Given the description of an element on the screen output the (x, y) to click on. 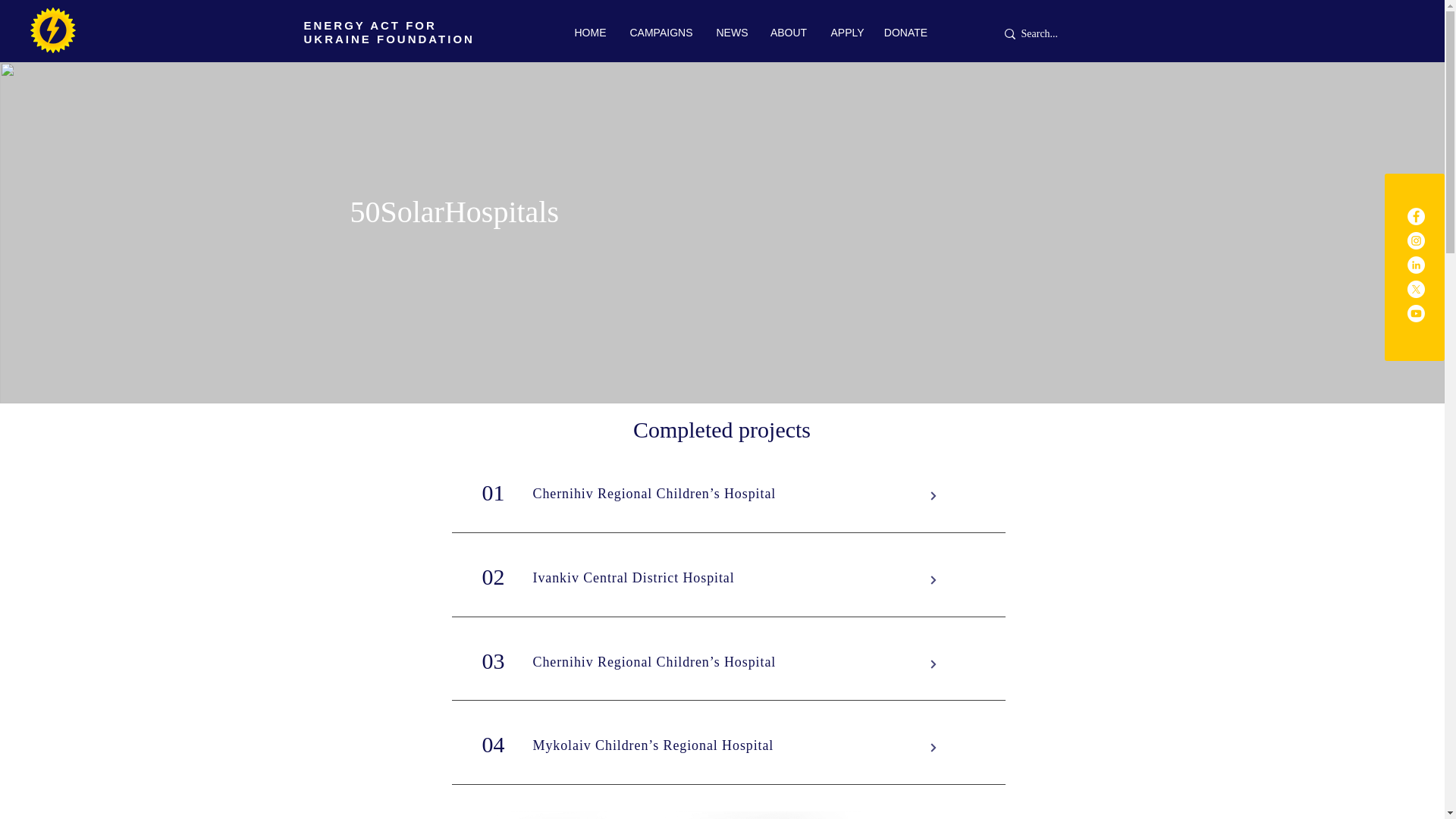
02 (493, 576)
04 (493, 744)
01 (493, 492)
Ivankiv Central District Hospital (632, 577)
03 (493, 660)
DONATE (905, 33)
NEWS (730, 33)
HOME (589, 33)
